Given the description of an element on the screen output the (x, y) to click on. 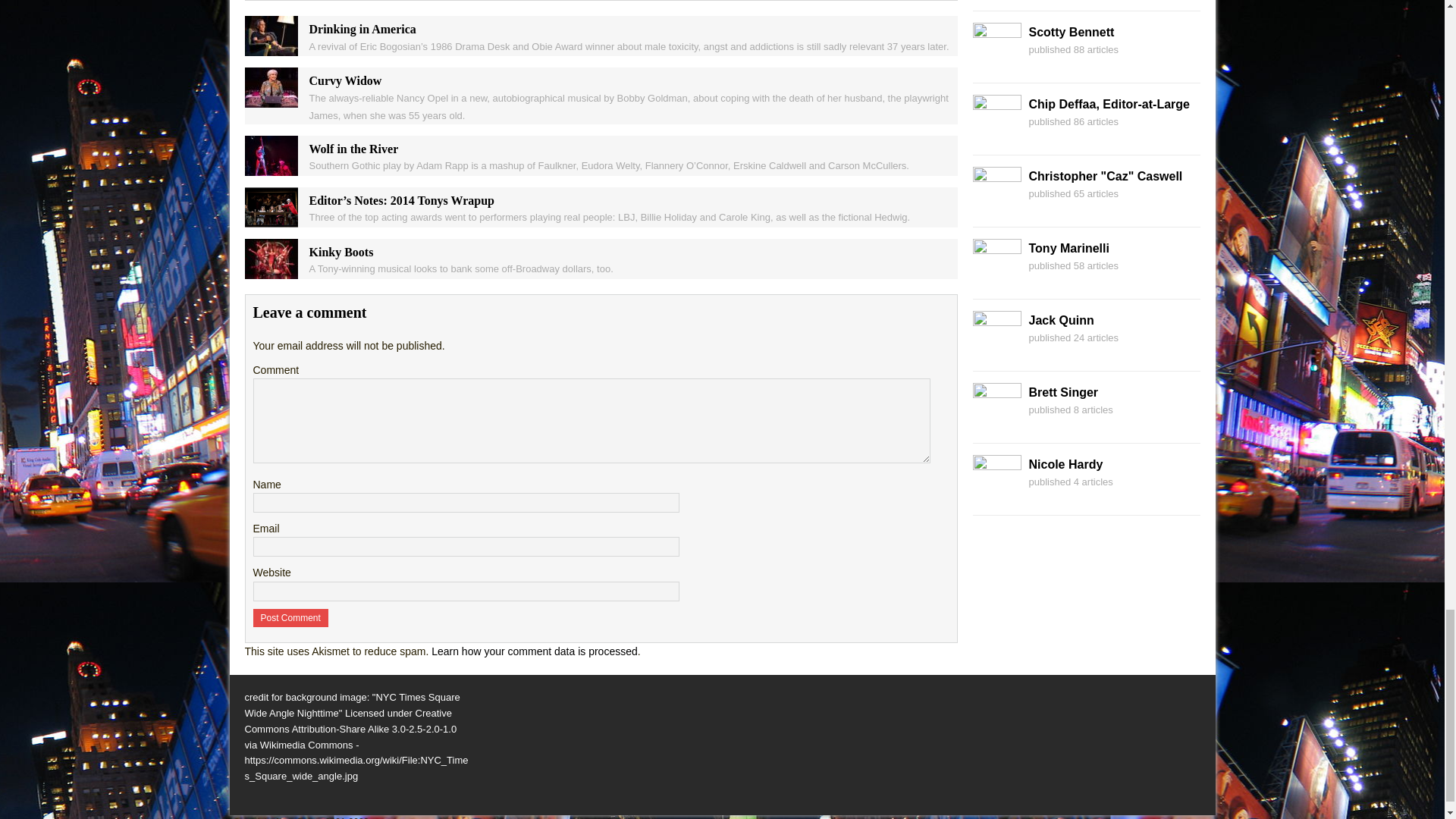
Kinky Boots (270, 269)
Drinking in America (270, 47)
Wolf in the River (270, 166)
Curvy Widow (270, 99)
Post Comment (291, 618)
